Given the description of an element on the screen output the (x, y) to click on. 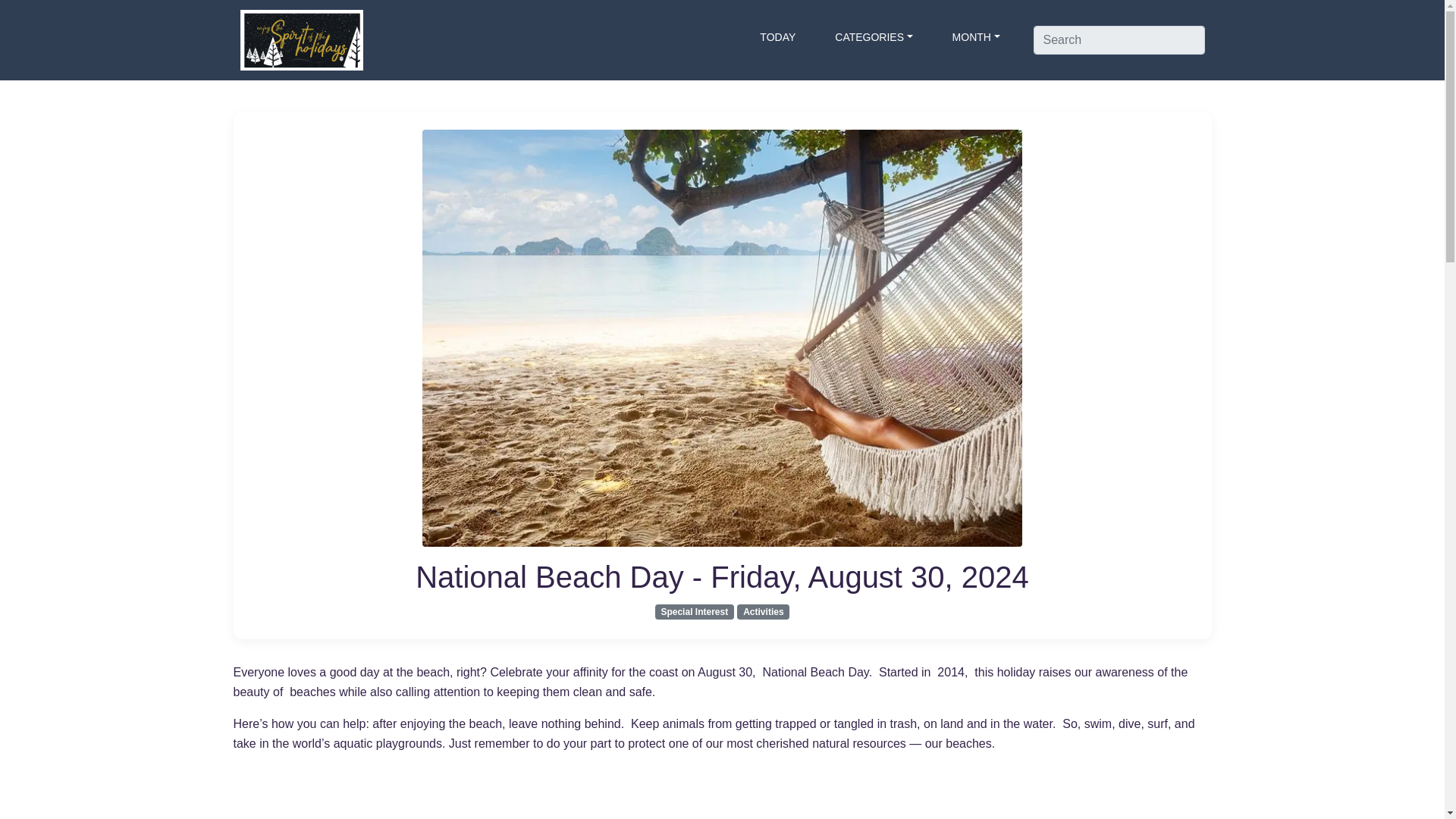
MONTH (976, 36)
Activities (762, 610)
CATEGORIES (873, 36)
Special Interest (694, 610)
TODAY (778, 36)
